Given the description of an element on the screen output the (x, y) to click on. 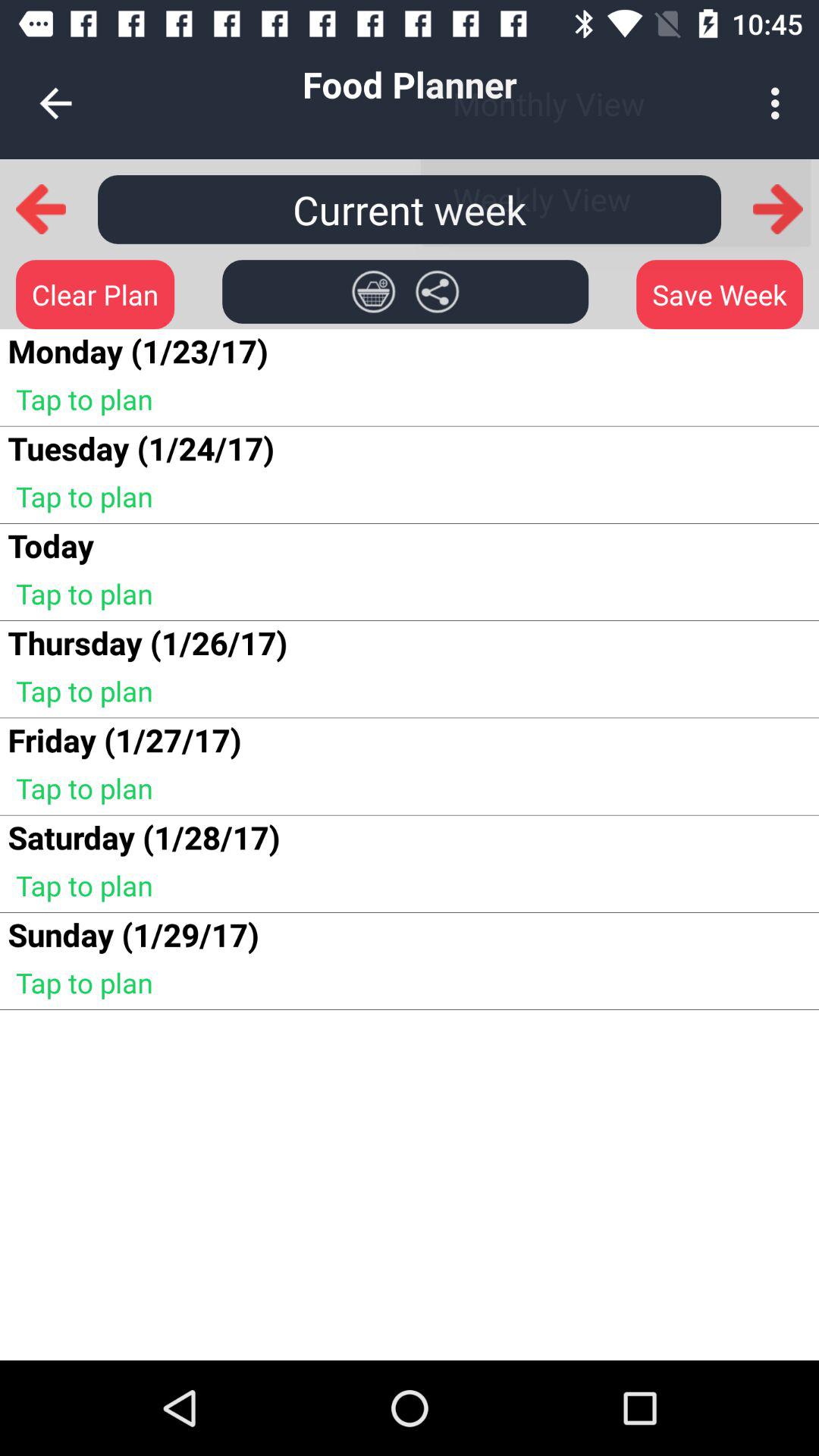
swipe to the save week item (719, 294)
